Given the description of an element on the screen output the (x, y) to click on. 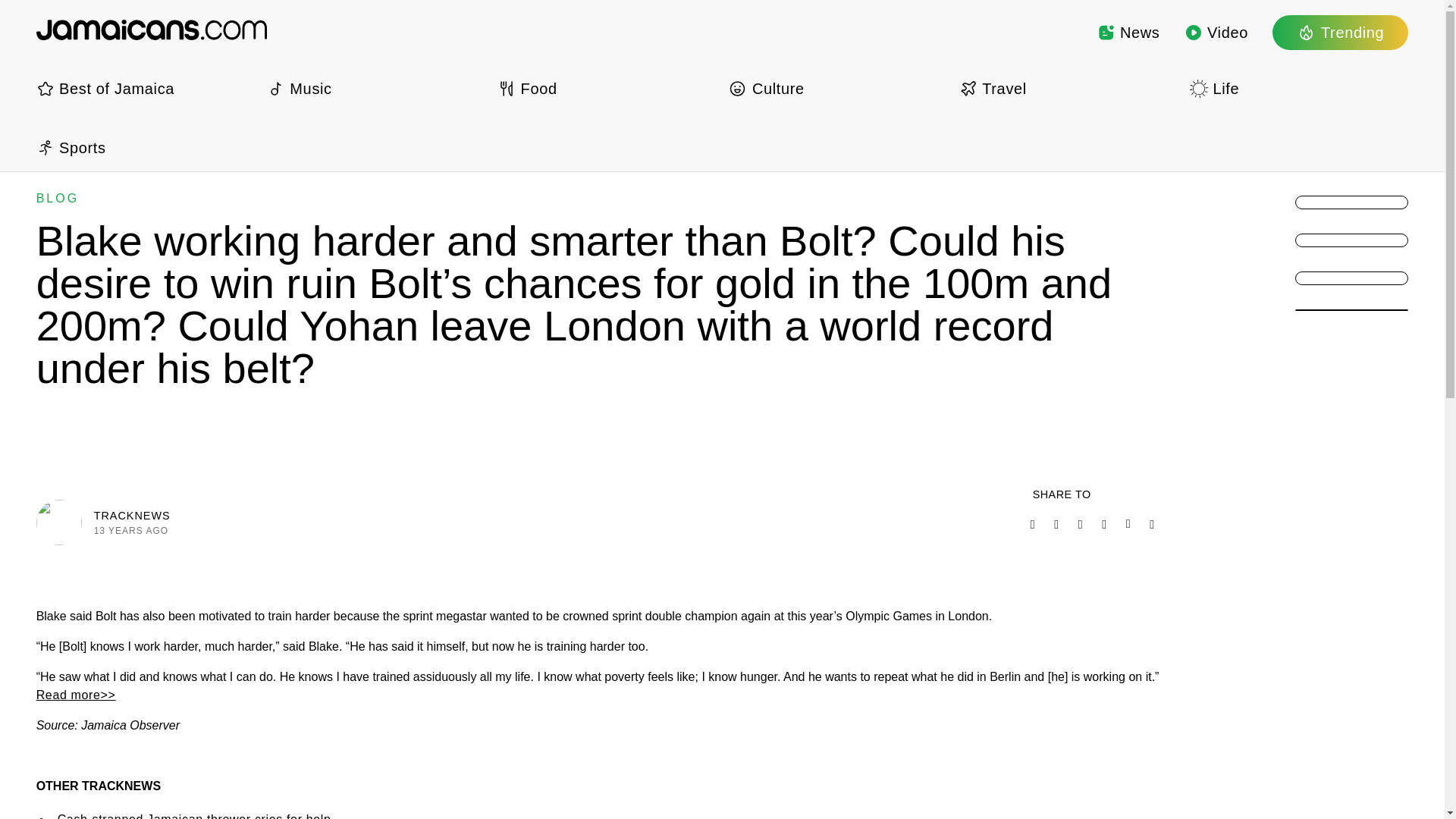
Travel (1068, 88)
Culture (837, 88)
Music (375, 88)
Sports (145, 147)
Best of Jamaica (145, 88)
News (1128, 32)
Life (1298, 88)
Food (606, 88)
Video (1216, 32)
BLOG (57, 197)
Trending (1339, 32)
Cash-strapped Jamaican thrower cries for help (194, 816)
